Given the description of an element on the screen output the (x, y) to click on. 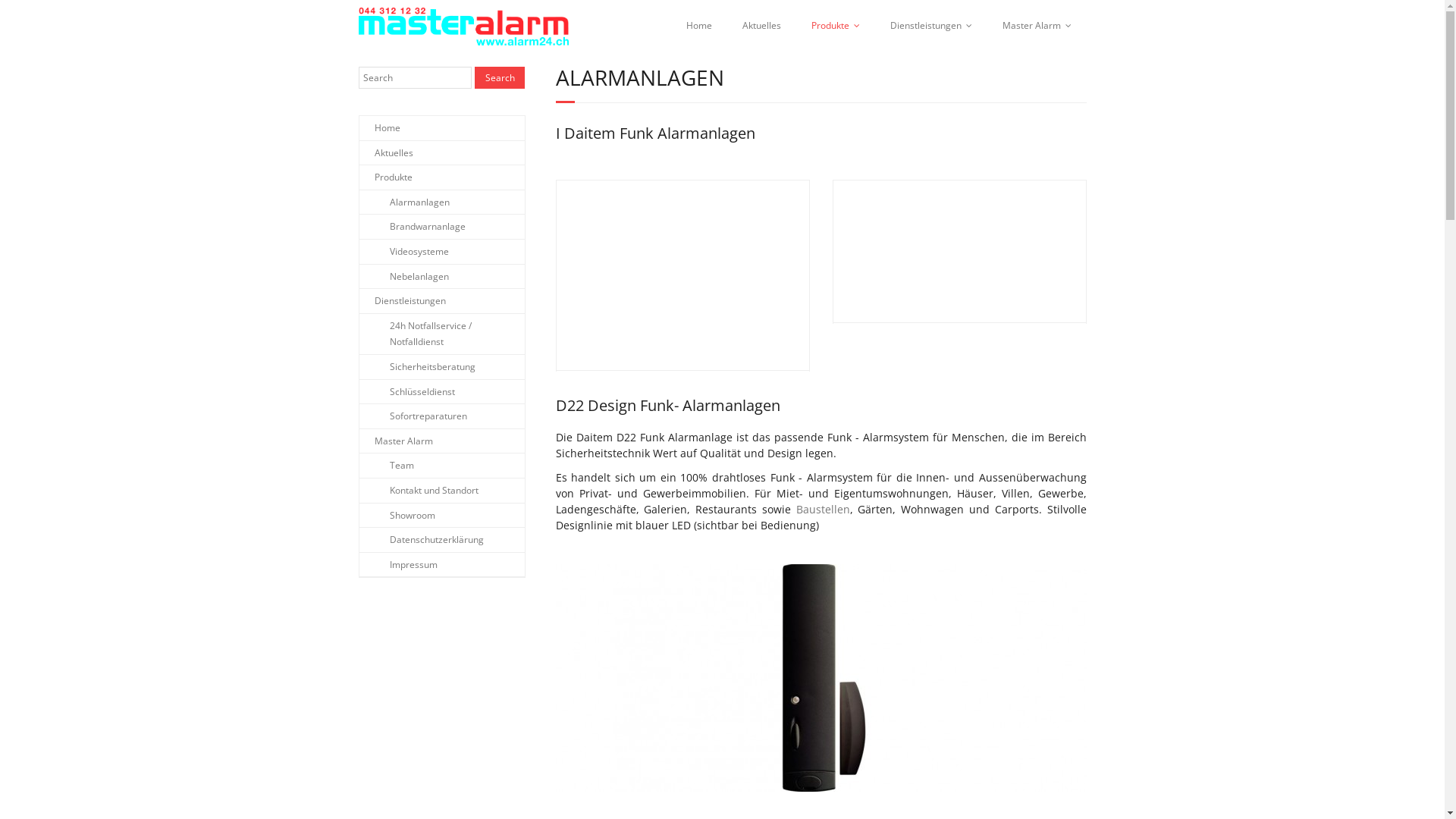
Master Alarm Element type: text (396, 441)
Alarmanlagen Element type: text (404, 202)
Kontakt und Standort Element type: text (418, 490)
Daitem D22 Bedienung Element type: hover (958, 251)
Sicherheitsberatung Element type: text (417, 366)
Aktuelles Element type: text (760, 25)
Videosysteme Element type: text (403, 251)
Brandwarnanlage Element type: text (412, 226)
Sofortreparaturen Element type: text (413, 416)
Showroom Element type: text (397, 515)
Home Element type: text (379, 128)
24h Notfallservice / Notfalldienst Element type: text (441, 333)
Baustellen Element type: text (823, 509)
Produkte Element type: text (835, 25)
Dienstleistungen Element type: text (402, 300)
Produkte Element type: text (385, 177)
Dienstleistungen Element type: text (931, 25)
Aktuelles Element type: text (386, 153)
Impressum Element type: text (398, 564)
Home Element type: text (698, 25)
Team Element type: text (386, 465)
Nebelanlagen Element type: text (403, 276)
Master Alarm Element type: text (1036, 25)
Search Element type: text (499, 77)
